Given the description of an element on the screen output the (x, y) to click on. 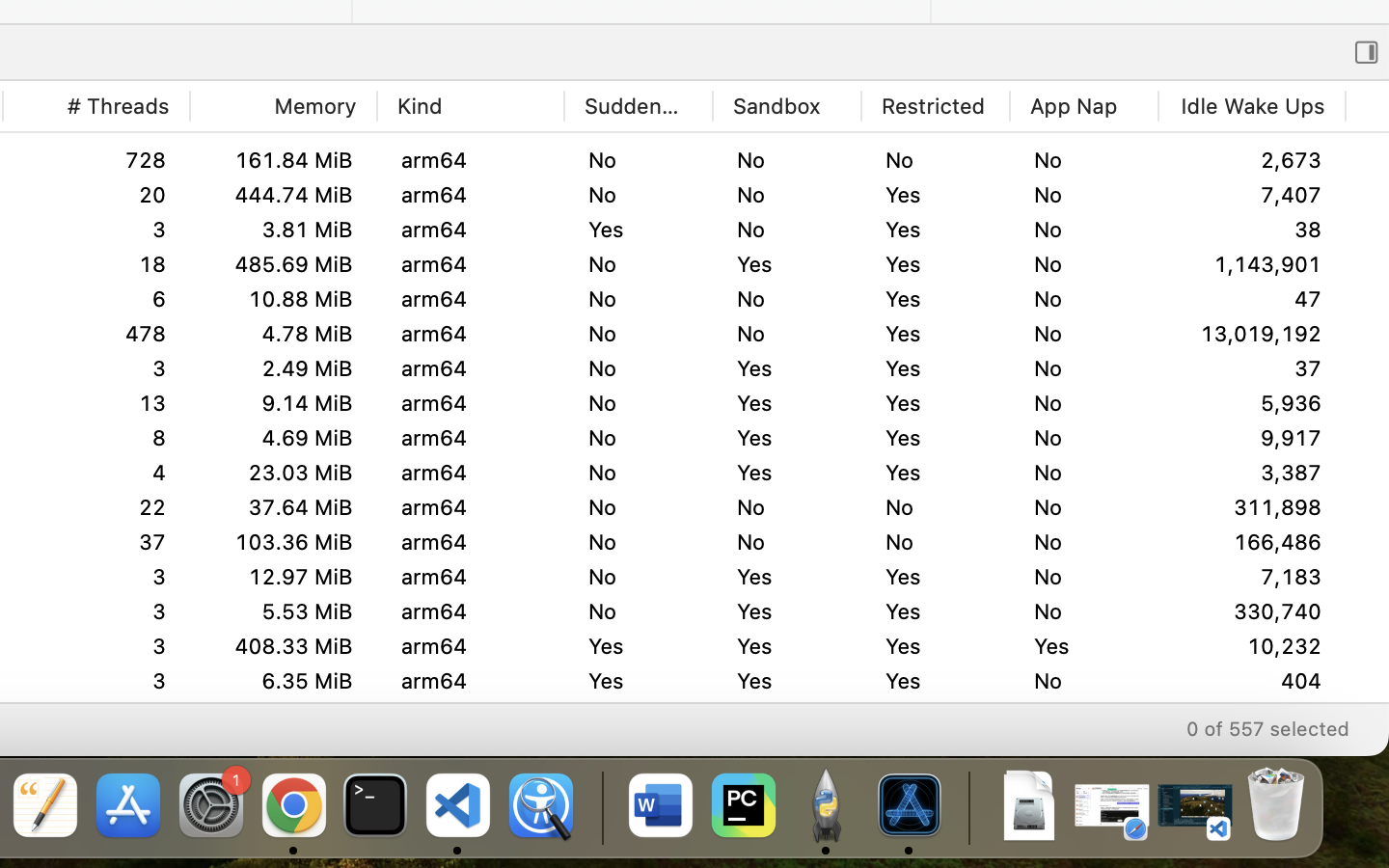
38 Element type: AXStaticText (1251, 229)
192 Element type: AXStaticText (96, 159)
4.69 MiB Element type: AXStaticText (283, 437)
23.11 MiB Element type: AXStaticText (283, 611)
8 Element type: AXStaticText (96, 472)
